Given the description of an element on the screen output the (x, y) to click on. 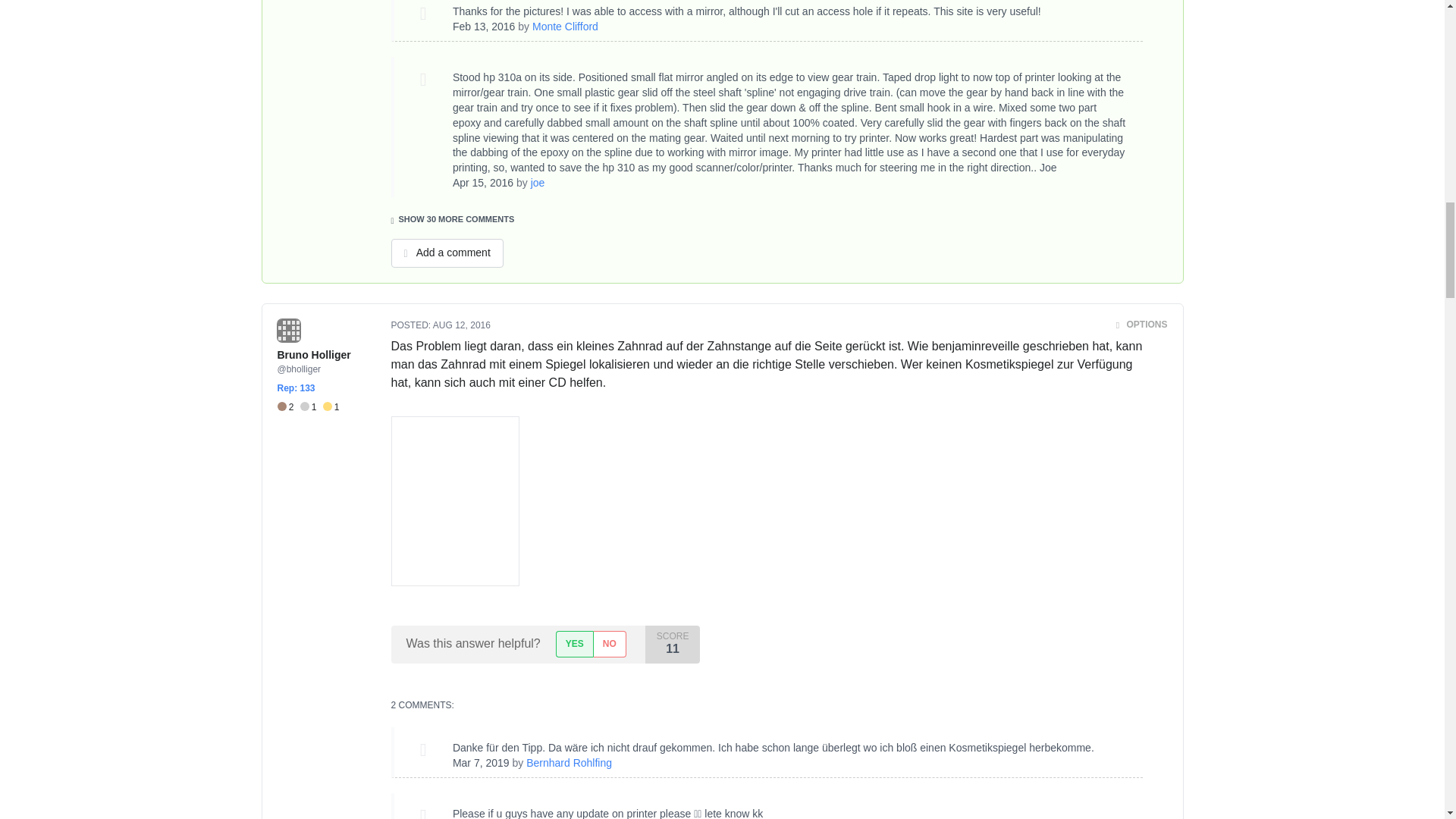
2 Bronze badges (288, 407)
1 Silver badges (311, 407)
Fri, 15 Apr 2016 10:04:28 -0700 (482, 182)
Sat, 13 Feb 2016 15:11:37 -0700 (483, 26)
